Given the description of an element on the screen output the (x, y) to click on. 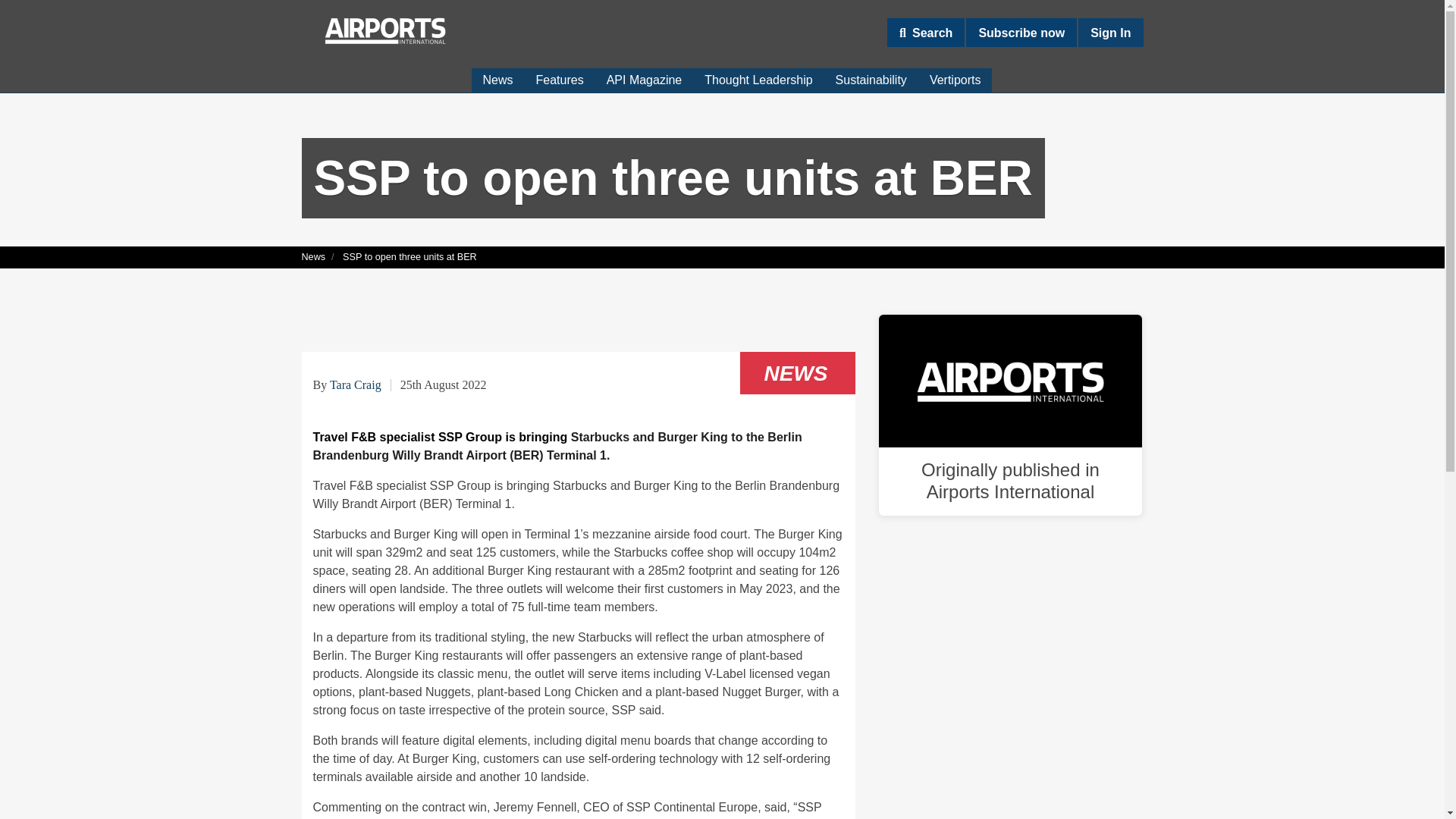
Sign into the site (1110, 32)
Sign In (1110, 32)
Tara Craig (355, 384)
Sustainability (871, 79)
Features (559, 79)
Thought Leadership (758, 79)
Home (384, 30)
News (497, 79)
News (313, 256)
